Given the description of an element on the screen output the (x, y) to click on. 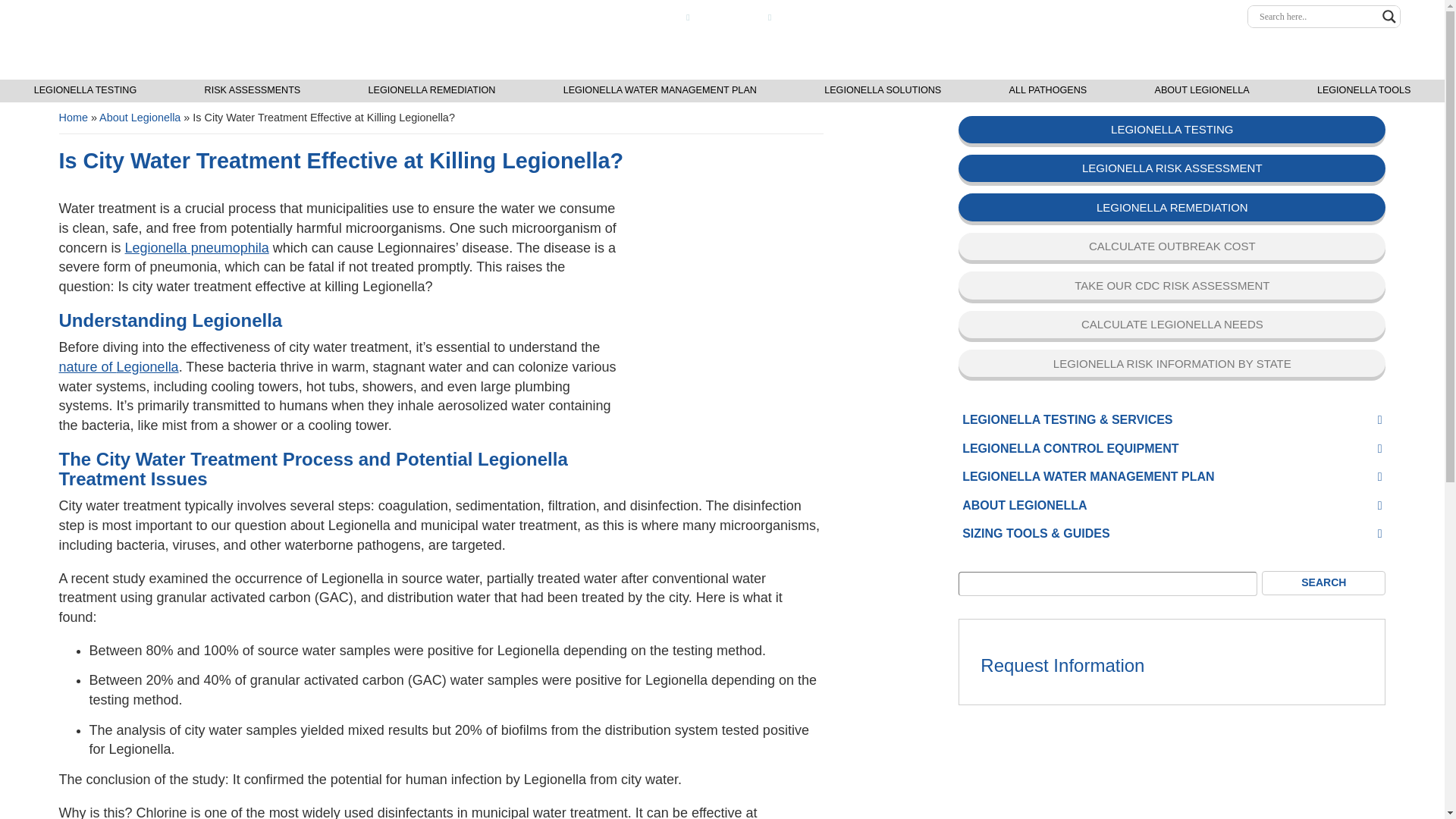
888-416-8626 (723, 17)
LEGIONELLA TESTING (85, 90)
LEGIONELLA BLOG (991, 17)
LEGIONELLA EMERGENCY HELP (596, 18)
ABOUT LEGIONELLA CONTROL SYSTEMS (1139, 17)
Search (1324, 582)
CONTACT (792, 17)
LEGIONELLA TESTING (883, 17)
